Given the description of an element on the screen output the (x, y) to click on. 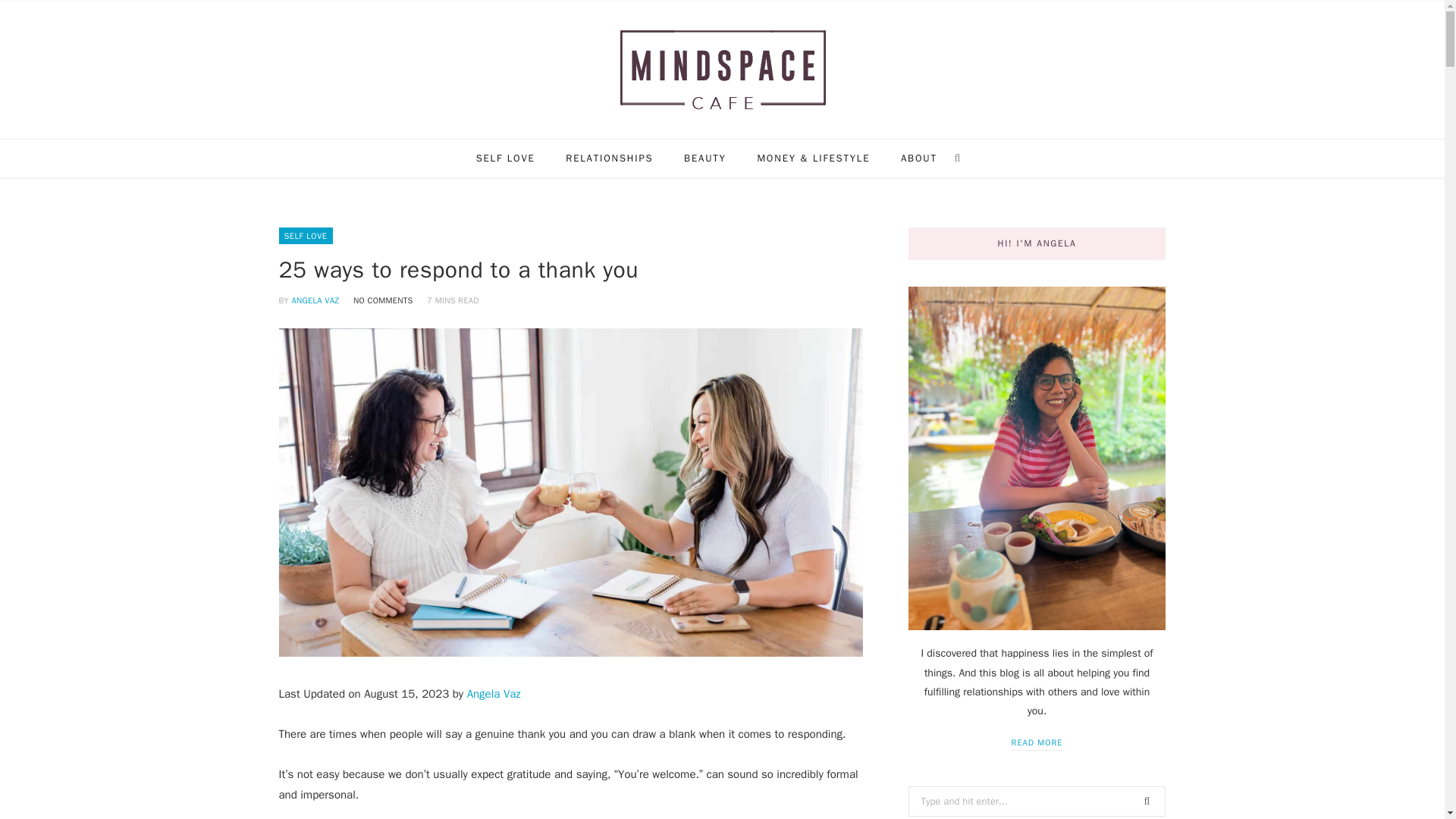
Angela Vaz (494, 694)
Search (960, 158)
NO COMMENTS (383, 299)
BEAUTY (704, 158)
ANGELA VAZ (315, 299)
SELF LOVE (505, 158)
RELATIONSHIPS (608, 158)
Search for: (1037, 801)
Posts by Angela Vaz (315, 299)
Mind Space Cafe (721, 69)
ABOUT (918, 158)
SELF LOVE (306, 235)
